Given the description of an element on the screen output the (x, y) to click on. 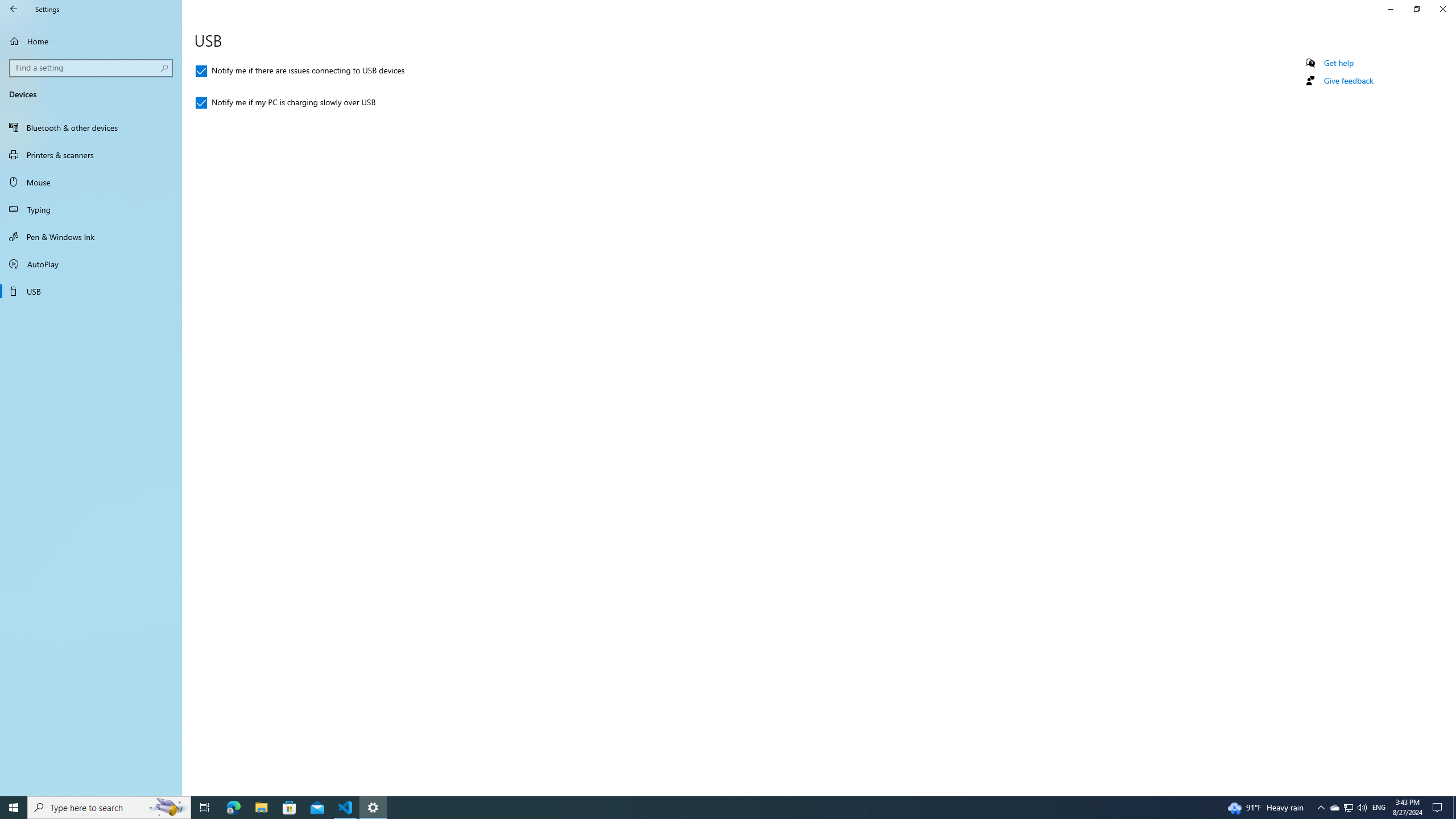
Running applications (706, 807)
User Promoted Notification Area (1347, 807)
Home (91, 40)
Mouse (91, 181)
Close Settings (1442, 9)
Search highlights icon opens search home window (167, 807)
Microsoft Store (289, 807)
Search box, Find a setting (91, 67)
Minimize Settings (1390, 9)
Settings - 1 running window (373, 807)
Action Center, No new notifications (1347, 807)
AutoPlay (1439, 807)
Microsoft Edge (91, 263)
Back (233, 807)
